Given the description of an element on the screen output the (x, y) to click on. 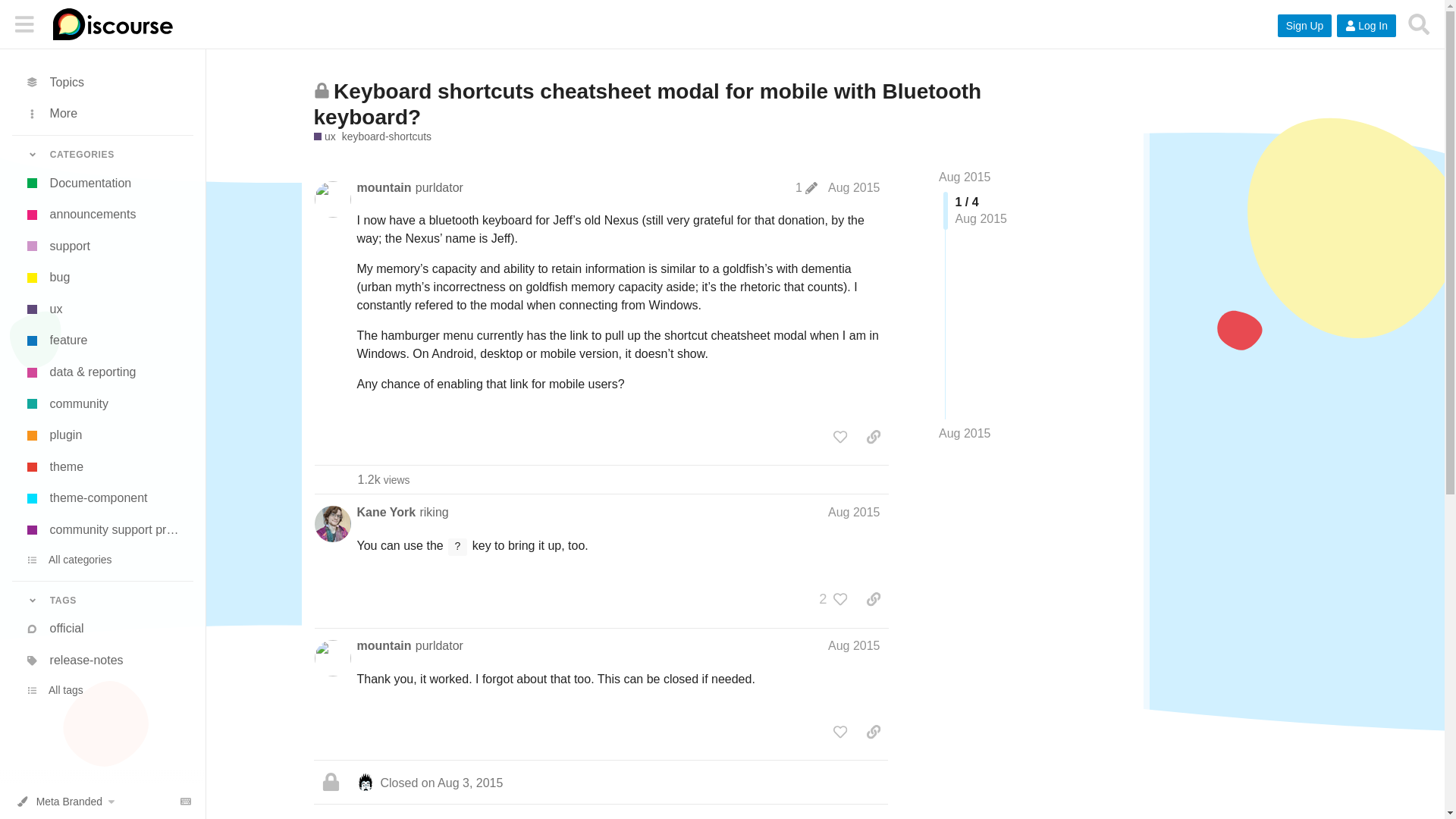
More (102, 113)
1 (806, 187)
Toggle section (102, 154)
mountain (383, 187)
community (102, 404)
purldator (438, 186)
ux (102, 309)
All topics (102, 82)
ux (325, 136)
All tags (102, 690)
